Given the description of an element on the screen output the (x, y) to click on. 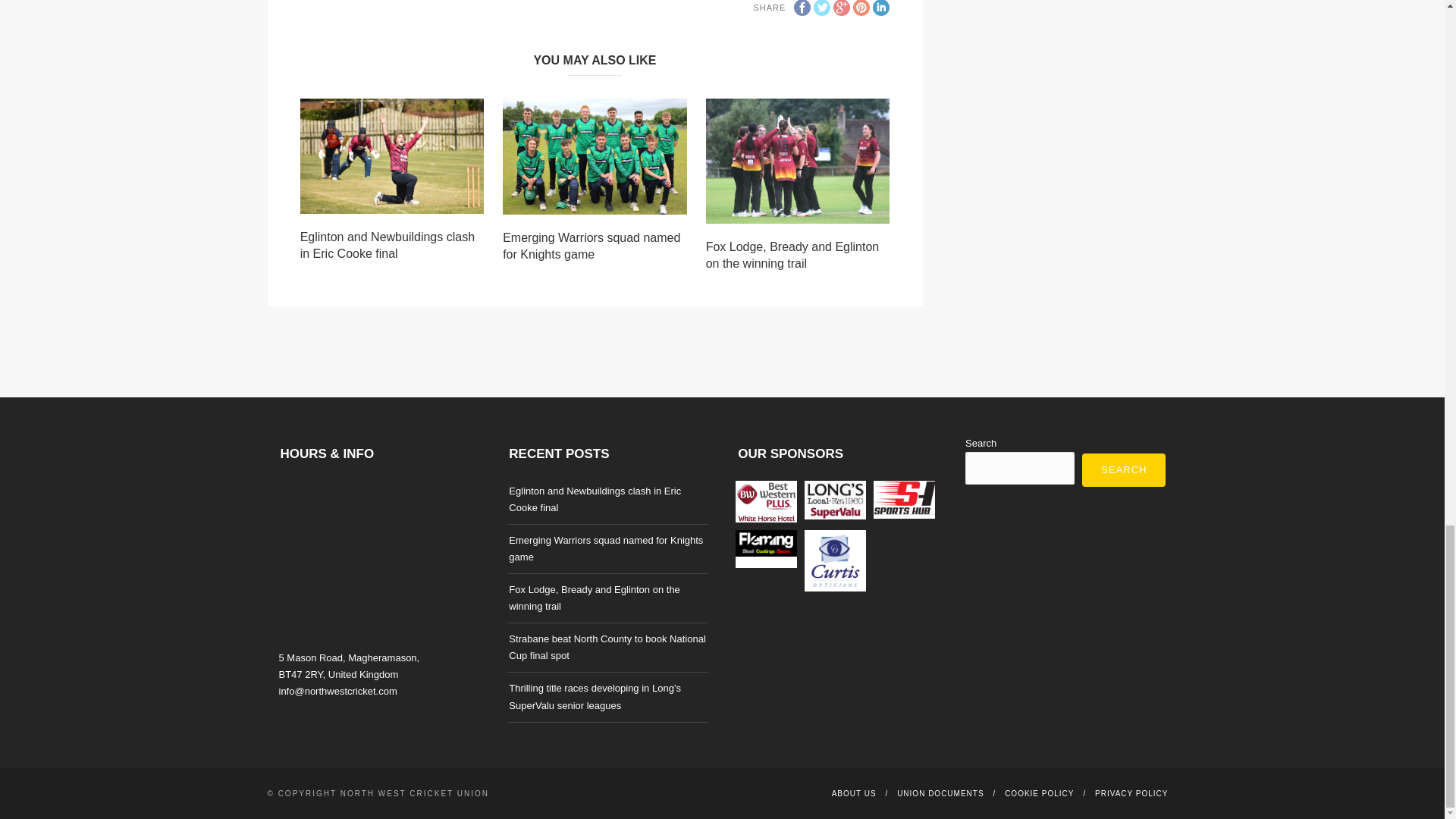
Twitter (821, 7)
Facebook (801, 7)
Pinterest (861, 7)
